Given the description of an element on the screen output the (x, y) to click on. 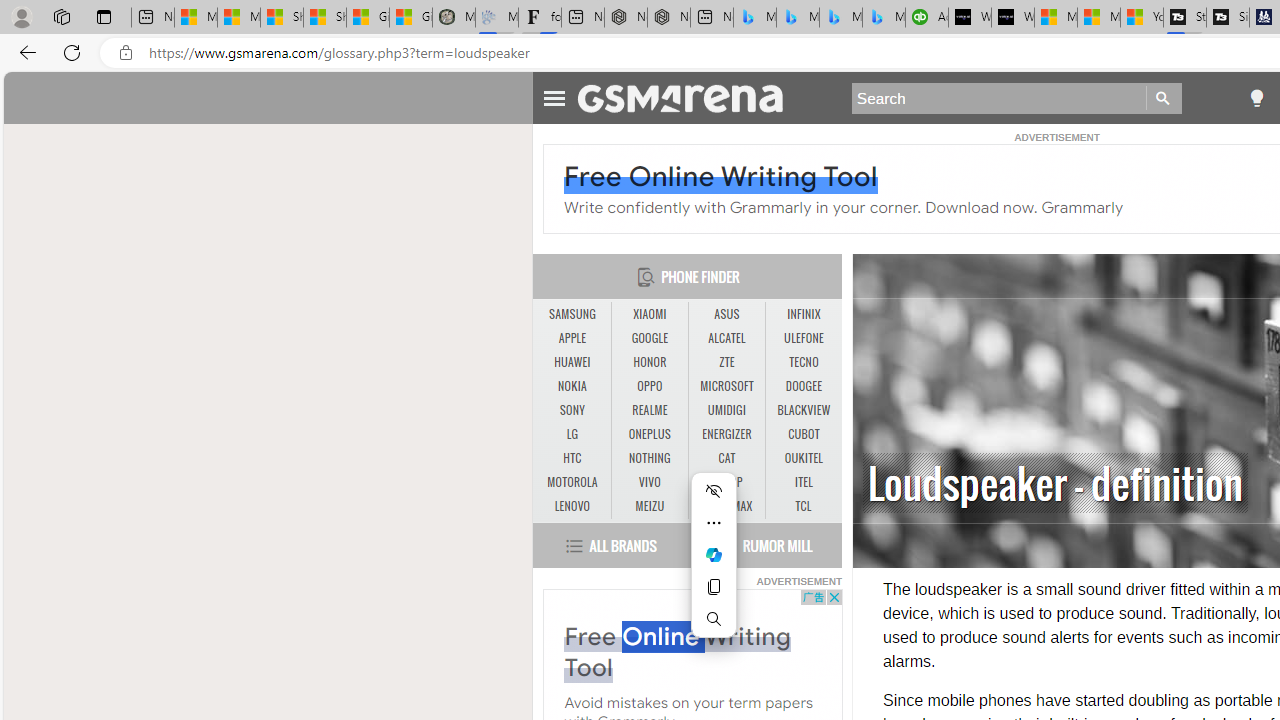
MOTOROLA (571, 483)
ALCATEL (726, 339)
CAT (726, 457)
MEIZU (649, 506)
OPPO (649, 385)
MICROSOFT (726, 385)
MICROMAX (726, 506)
LG (571, 434)
Accounting Software for Accountants, CPAs and Bookkeepers (927, 17)
ENERGIZER (726, 434)
ENERGIZER (726, 434)
HTC (571, 458)
